Given the description of an element on the screen output the (x, y) to click on. 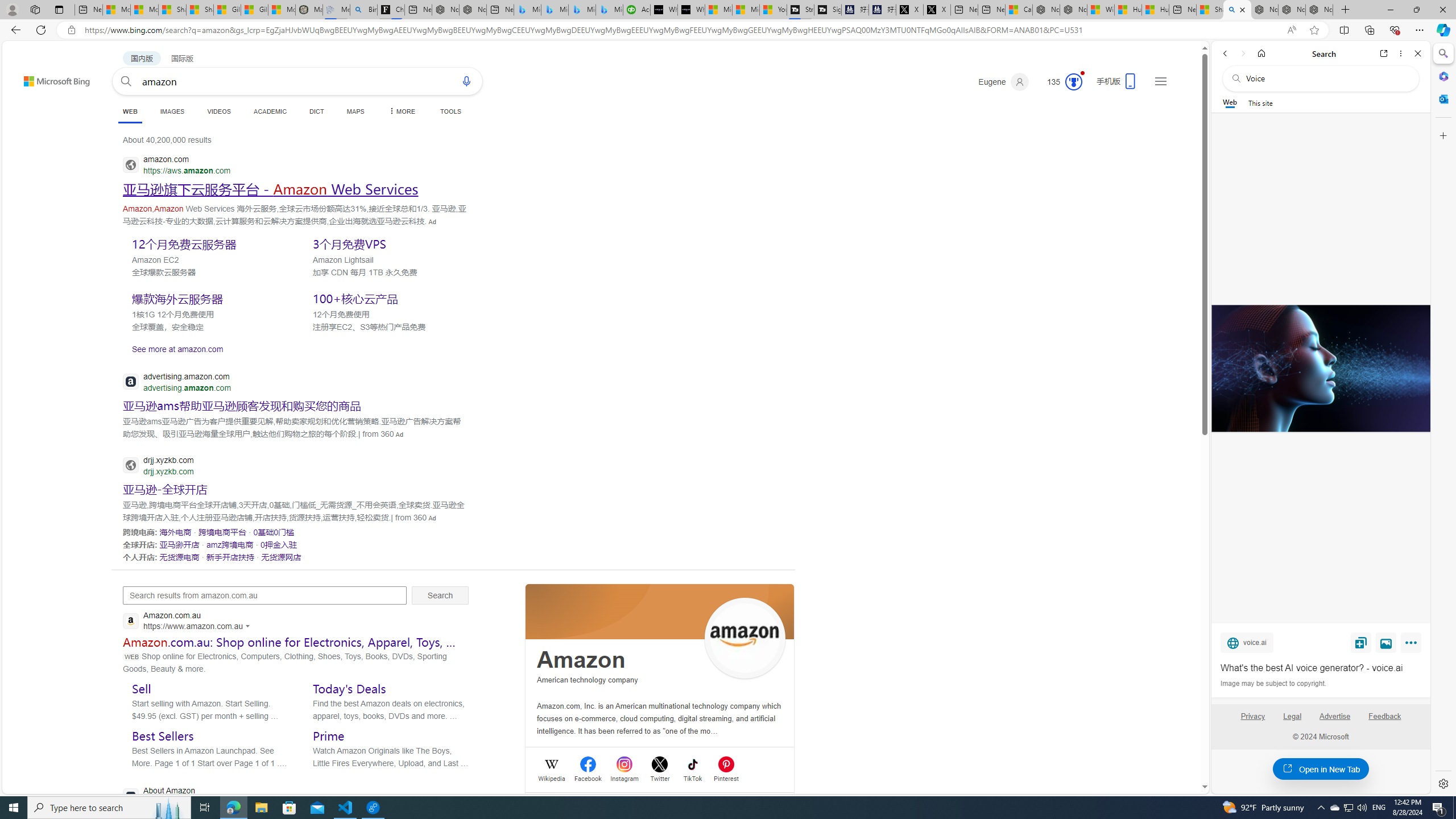
Browser essentials (1394, 29)
Collections (1369, 29)
Feedback (1384, 715)
Copilot (Ctrl+Shift+.) (1442, 29)
SERP,5569 (178, 544)
Customize (1442, 135)
amazon - Search (1236, 9)
Settings and more (Alt+F) (1419, 29)
Close (1417, 53)
ACADEMIC (269, 111)
Wildlife - MSN (1100, 9)
Nordace Siena Pro 15 Backpack (1292, 9)
Side bar (1443, 418)
